Given the description of an element on the screen output the (x, y) to click on. 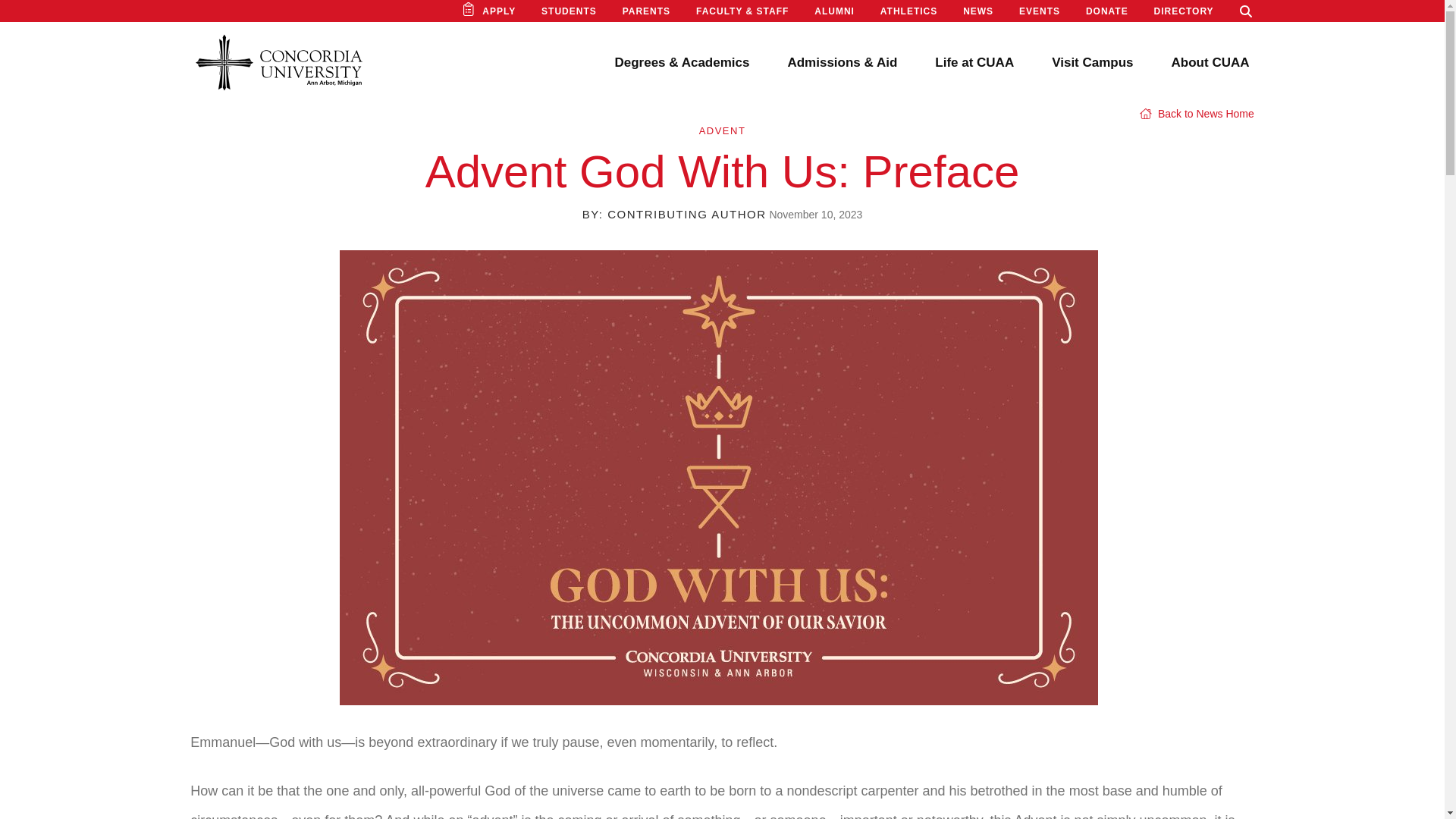
ALUMNI (833, 11)
NEWS (977, 11)
PARENTS (646, 11)
BY: CONTRIBUTING AUTHOR (674, 214)
DONATE (1107, 11)
Visit Campus (1091, 62)
About CUAA (1210, 62)
ADVENT (721, 130)
STUDENTS (568, 11)
ATHLETICS (908, 11)
  Back to News Home (1196, 113)
EVENTS (1039, 11)
APPLY (498, 11)
DIRECTORY (1184, 11)
Life at CUAA (973, 62)
